Given the description of an element on the screen output the (x, y) to click on. 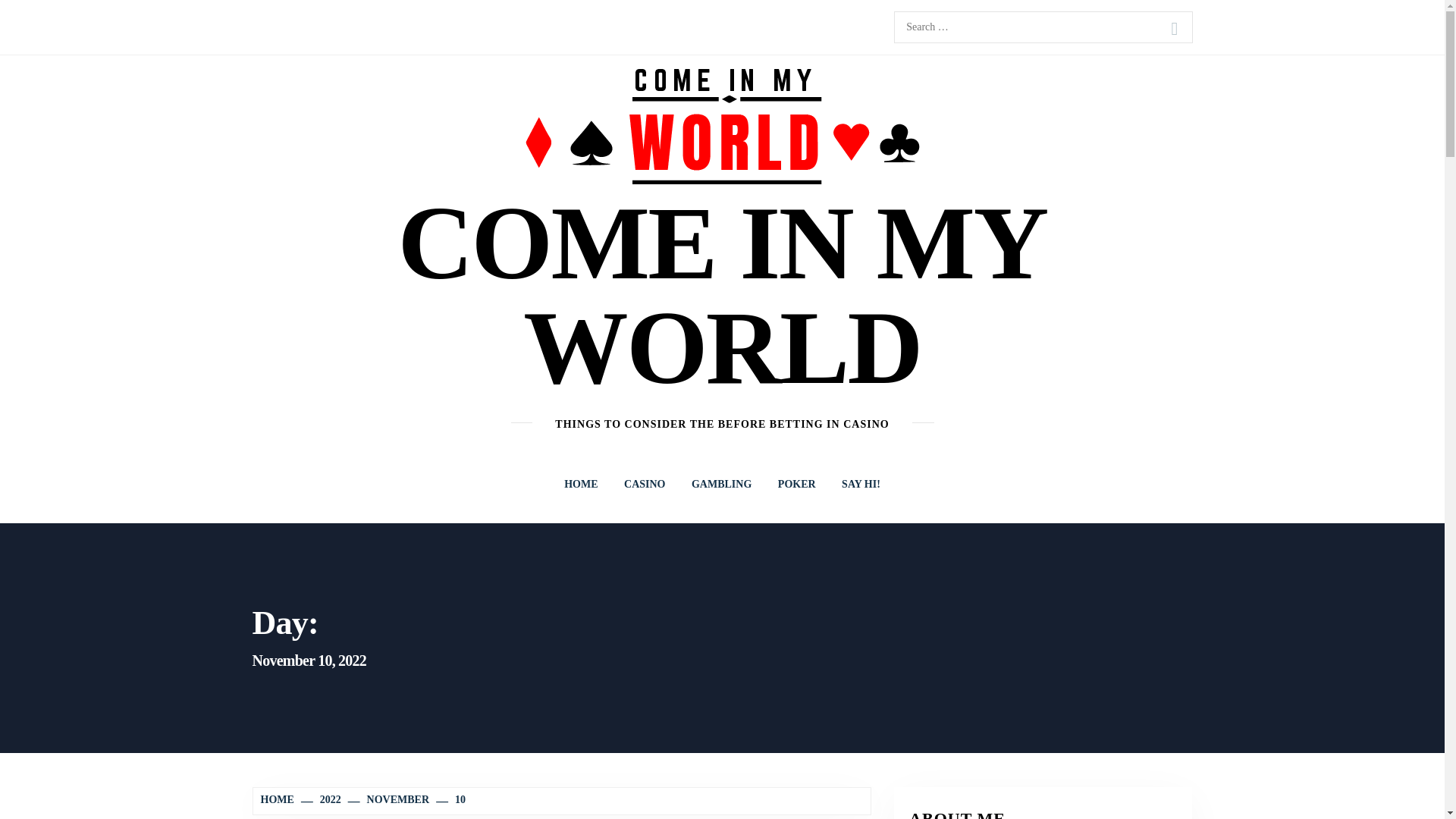
SAY HI! (860, 484)
GAMBLING (720, 484)
HOME (580, 484)
POKER (797, 484)
2022 (322, 799)
HOME (279, 799)
10 (451, 799)
Search (1174, 28)
Search (1174, 28)
NOVEMBER (389, 799)
Search (1174, 28)
CASINO (644, 484)
